Given the description of an element on the screen output the (x, y) to click on. 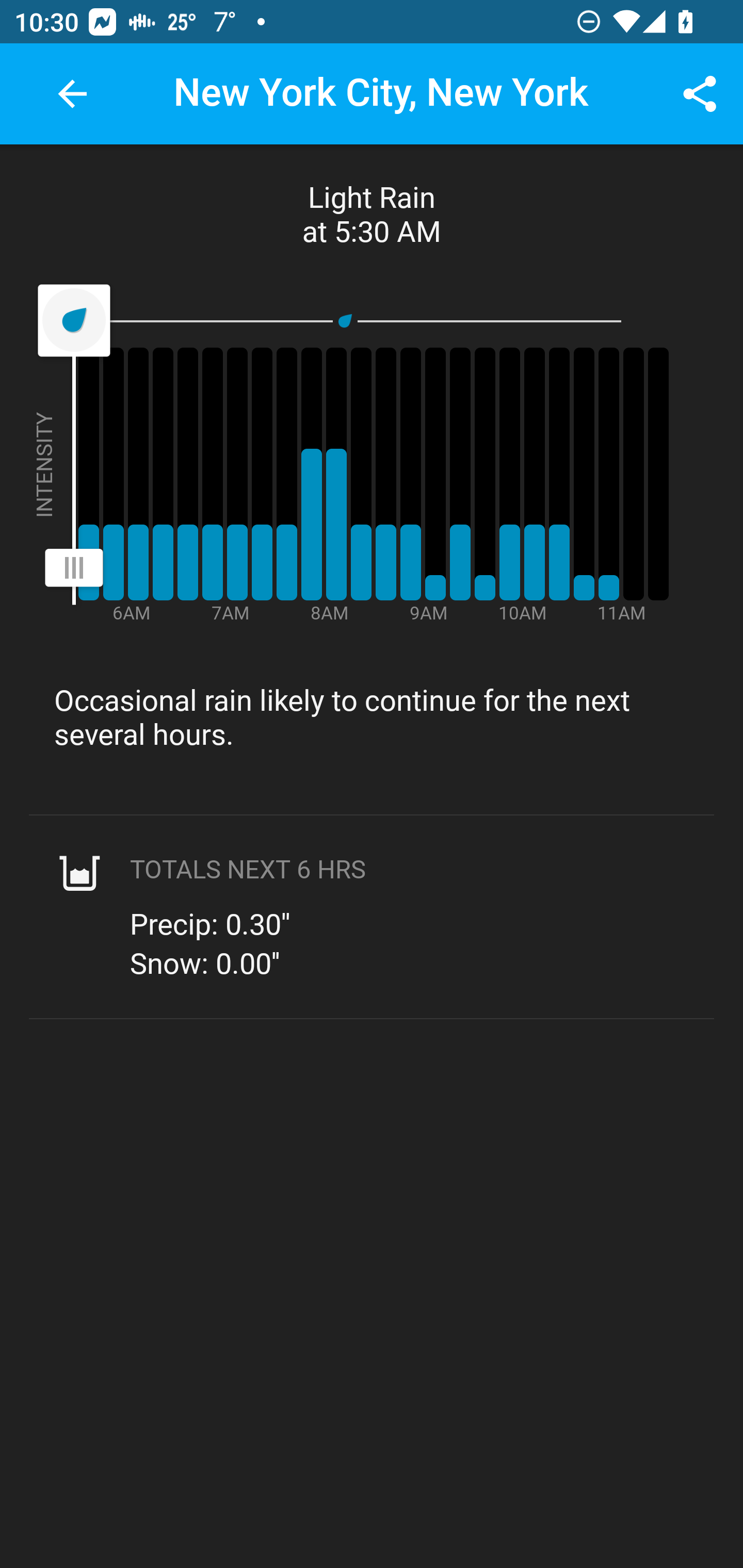
back (71, 93)
Share (699, 93)
